Given the description of an element on the screen output the (x, y) to click on. 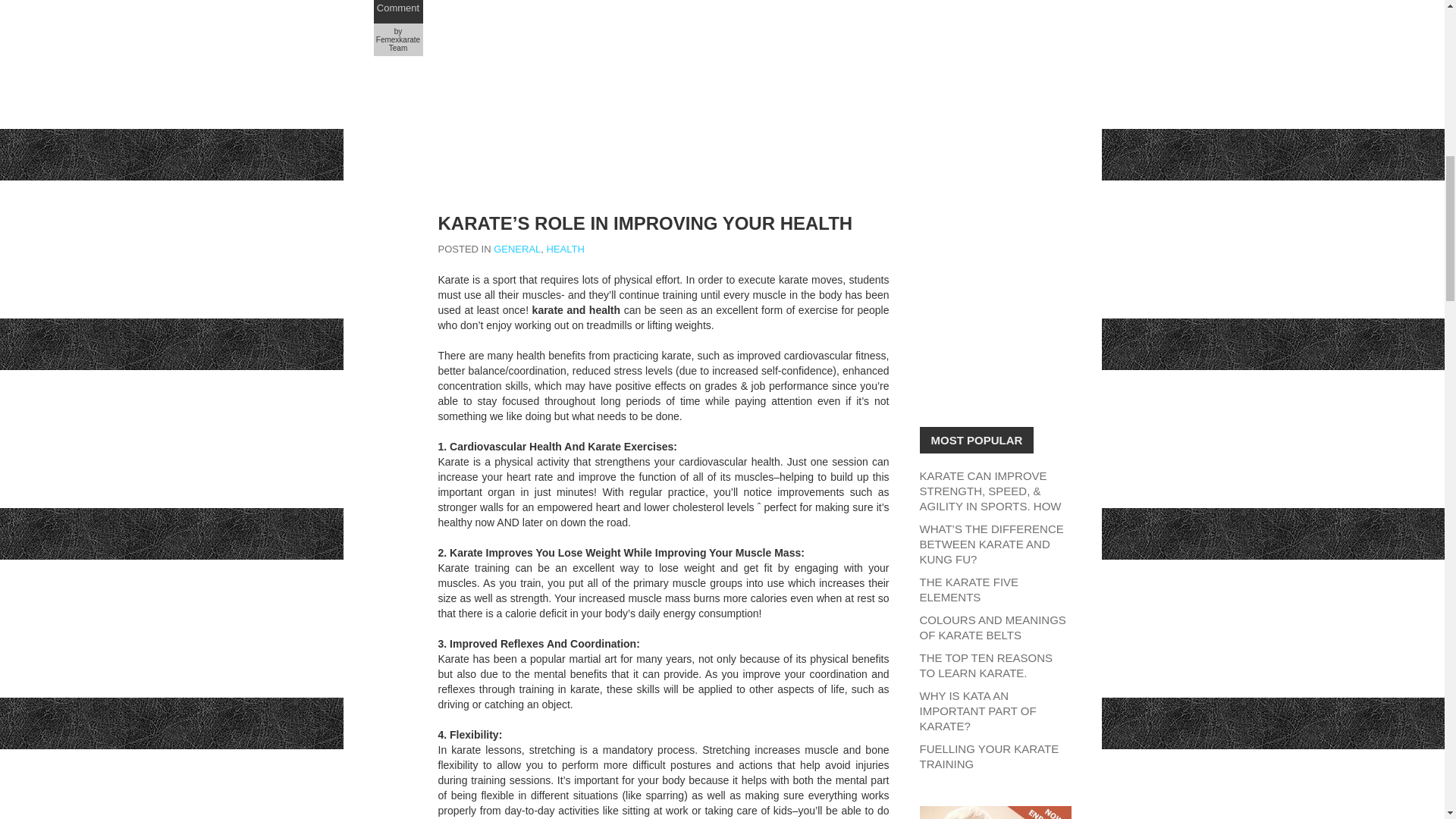
FUELLING YOUR KARATE TRAINING (988, 756)
GENERAL (516, 248)
WHY IS KATA AN IMPORTANT PART OF KARATE? (976, 710)
THE KARATE FIVE ELEMENTS (967, 589)
COLOURS AND MEANINGS OF KARATE BELTS (991, 627)
Comment (397, 7)
HEALTH (566, 248)
THE TOP TEN REASONS TO LEARN KARATE. (985, 665)
No (397, 0)
